Given the description of an element on the screen output the (x, y) to click on. 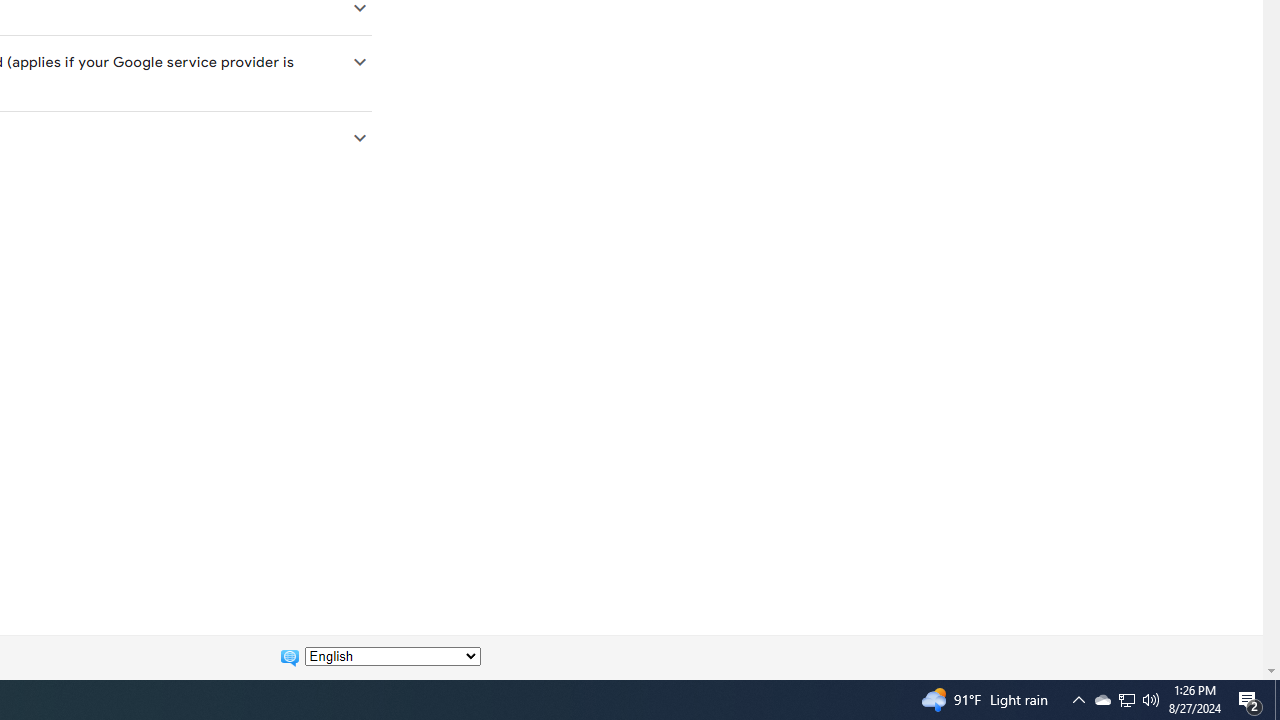
Change language: (392, 656)
